Given the description of an element on the screen output the (x, y) to click on. 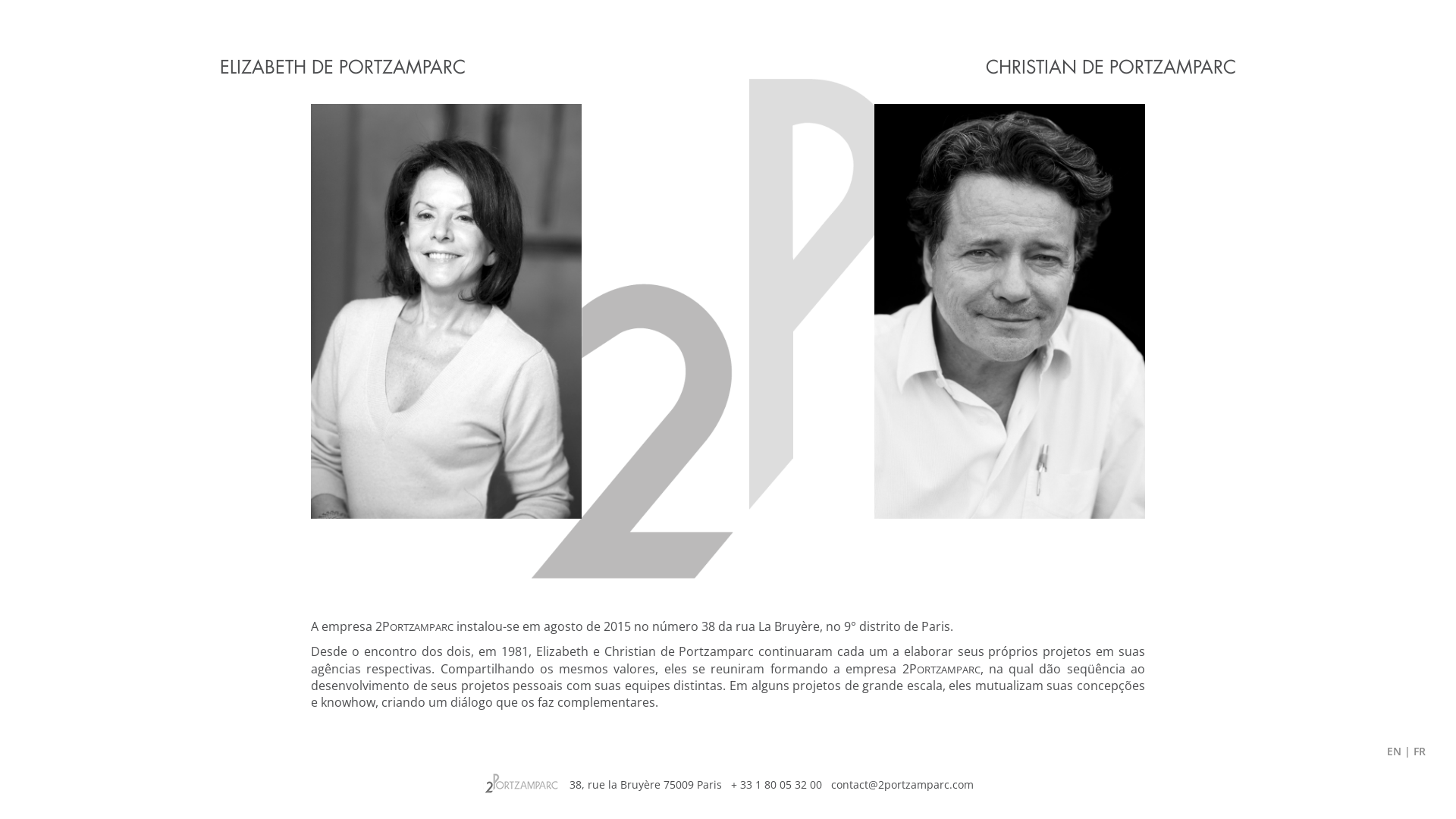
contact@2portzamparc.com Element type: text (902, 784)
EN Element type: text (1393, 750)
FR Element type: text (1419, 750)
+ 33 1 80 05 32 00 Element type: text (776, 784)
ELIZABETH DE PORTZAMPARC Element type: text (445, 310)
CHRISTIAN DE PORTZAMPARC Element type: text (1009, 310)
